Given the description of an element on the screen output the (x, y) to click on. 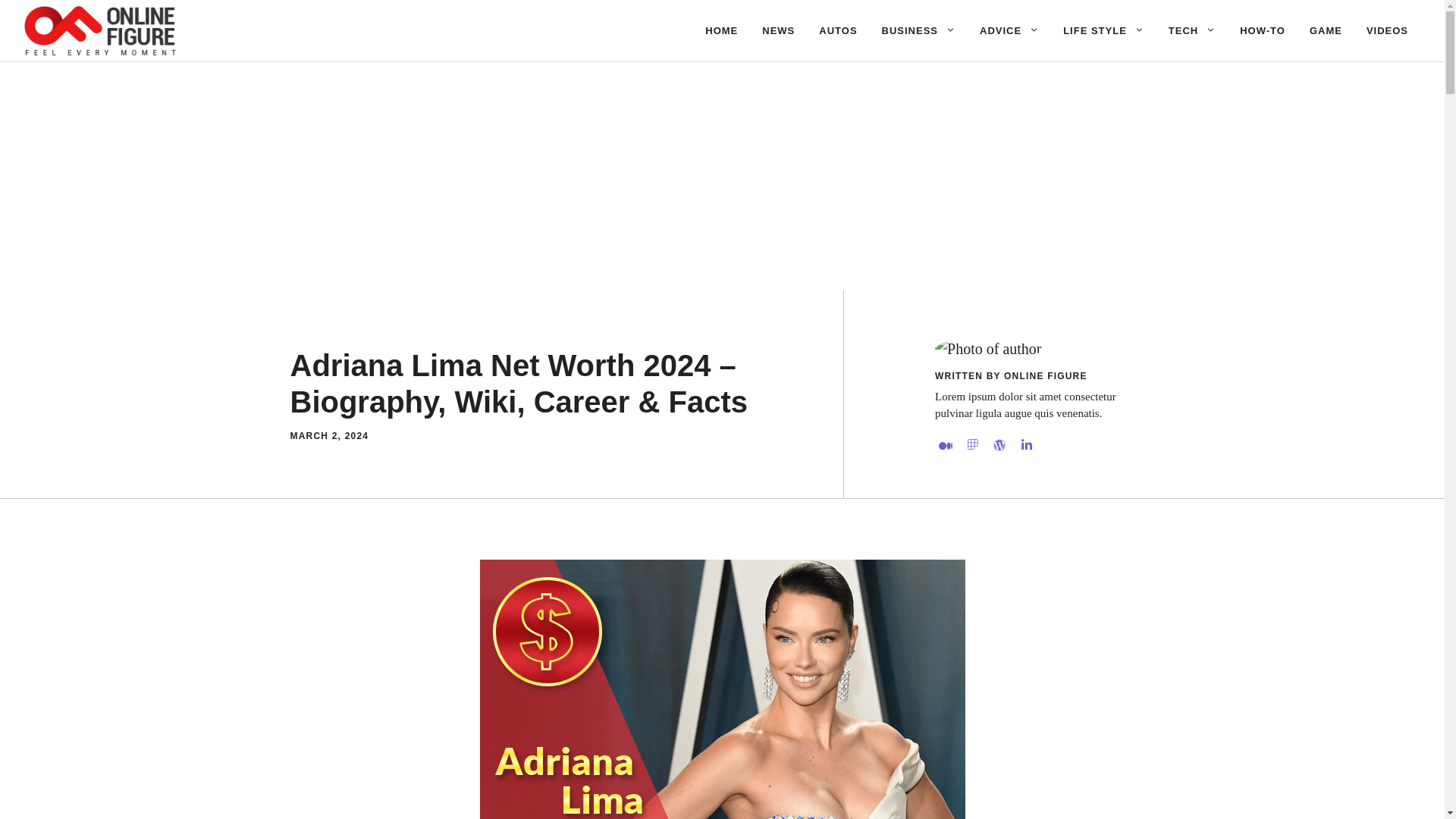
LIFE STYLE (1103, 31)
HOW-TO (1262, 31)
ADVICE (1009, 31)
AUTOS (837, 31)
TECH (1191, 31)
GAME (1325, 31)
NEWS (777, 31)
VIDEOS (1387, 31)
HOME (721, 31)
BUSINESS (918, 31)
